Given the description of an element on the screen output the (x, y) to click on. 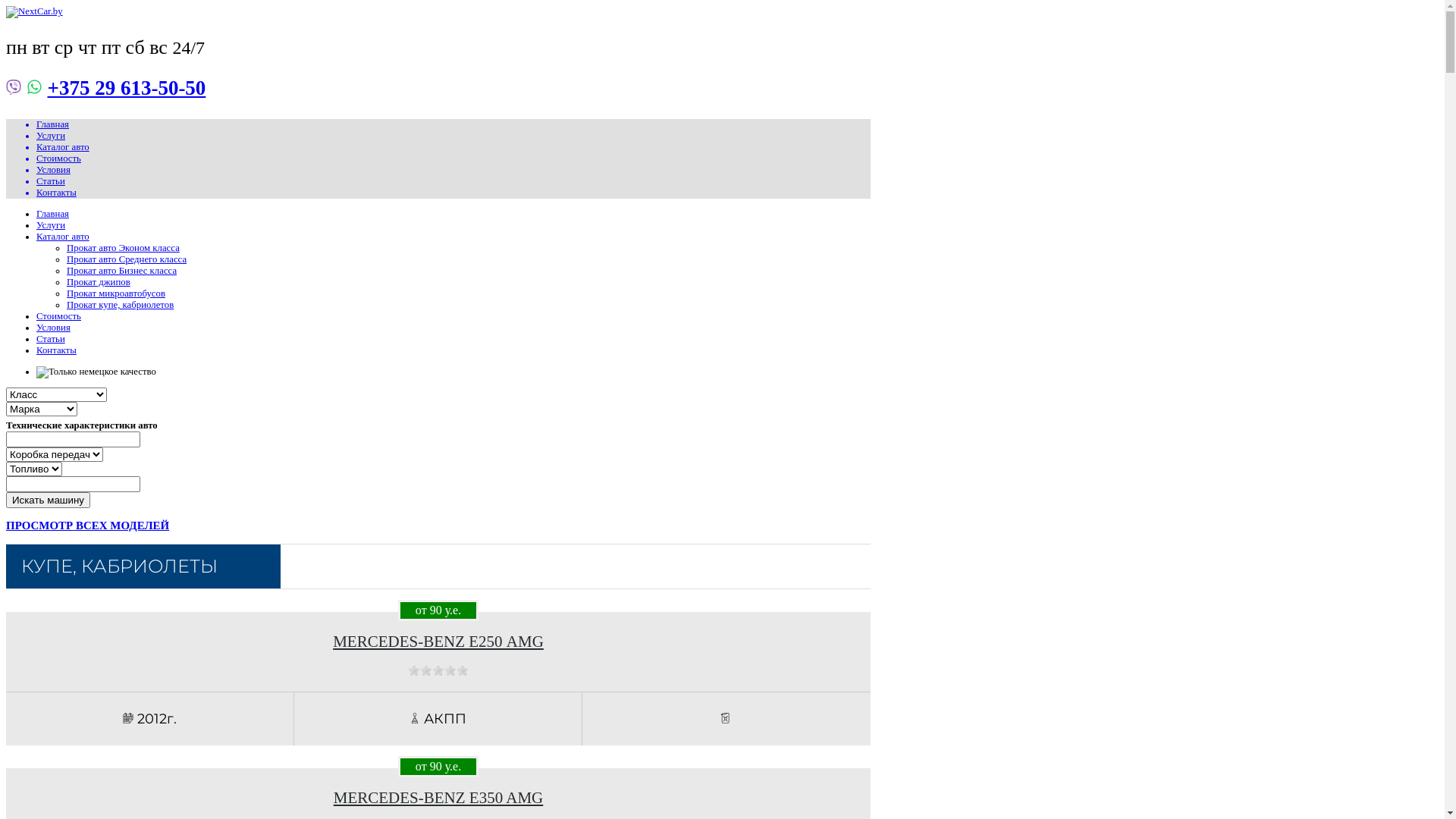
+375 29 613-50-50 Element type: text (126, 87)
MERCEDES-BENZ E350 AMG Element type: text (438, 797)
